Given the description of an element on the screen output the (x, y) to click on. 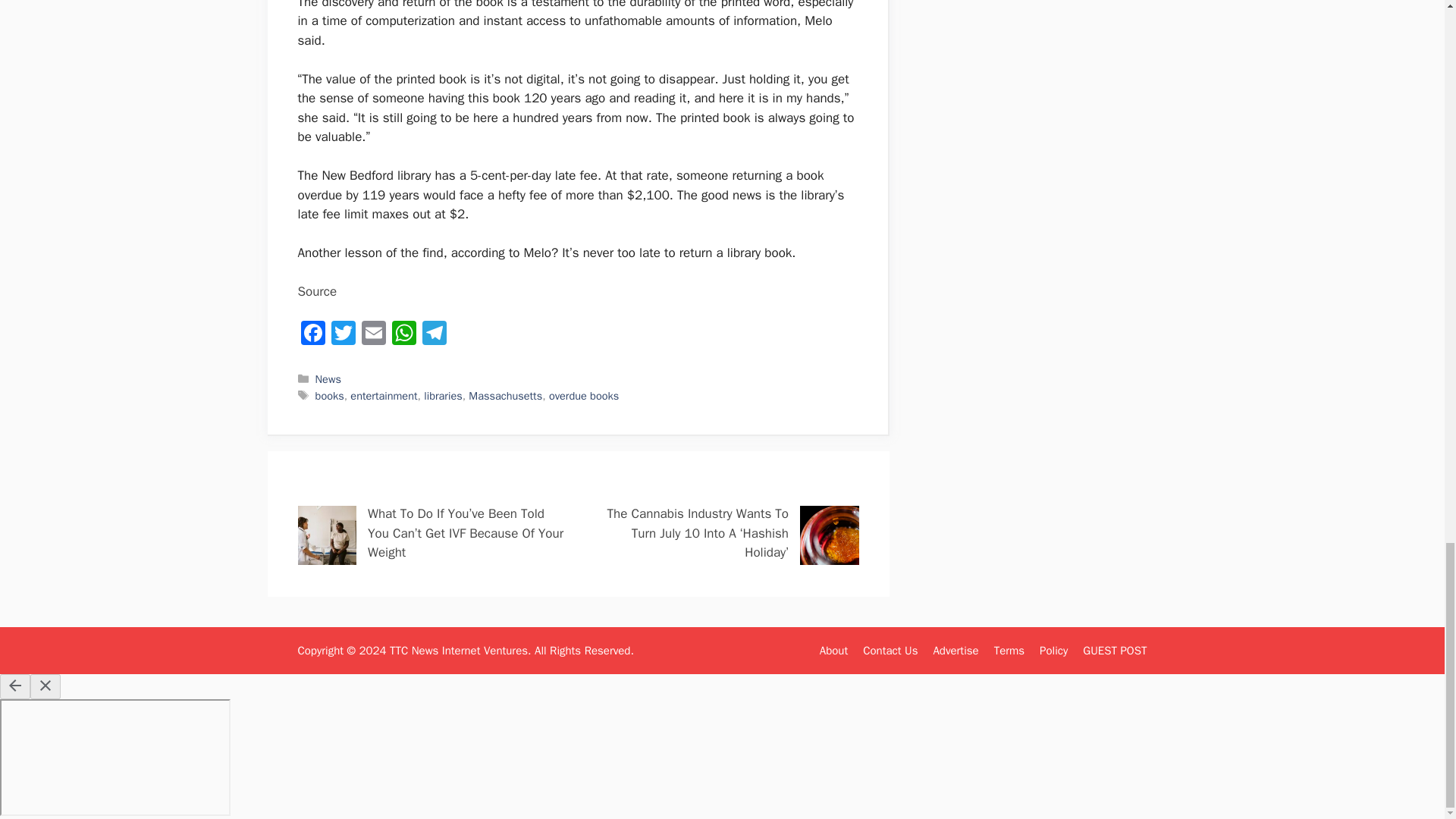
Massachusetts (504, 395)
Email (373, 335)
About (833, 650)
Facebook (312, 335)
books (329, 395)
overdue books (583, 395)
Facebook (312, 335)
Twitter (342, 335)
entertainment (383, 395)
